Given the description of an element on the screen output the (x, y) to click on. 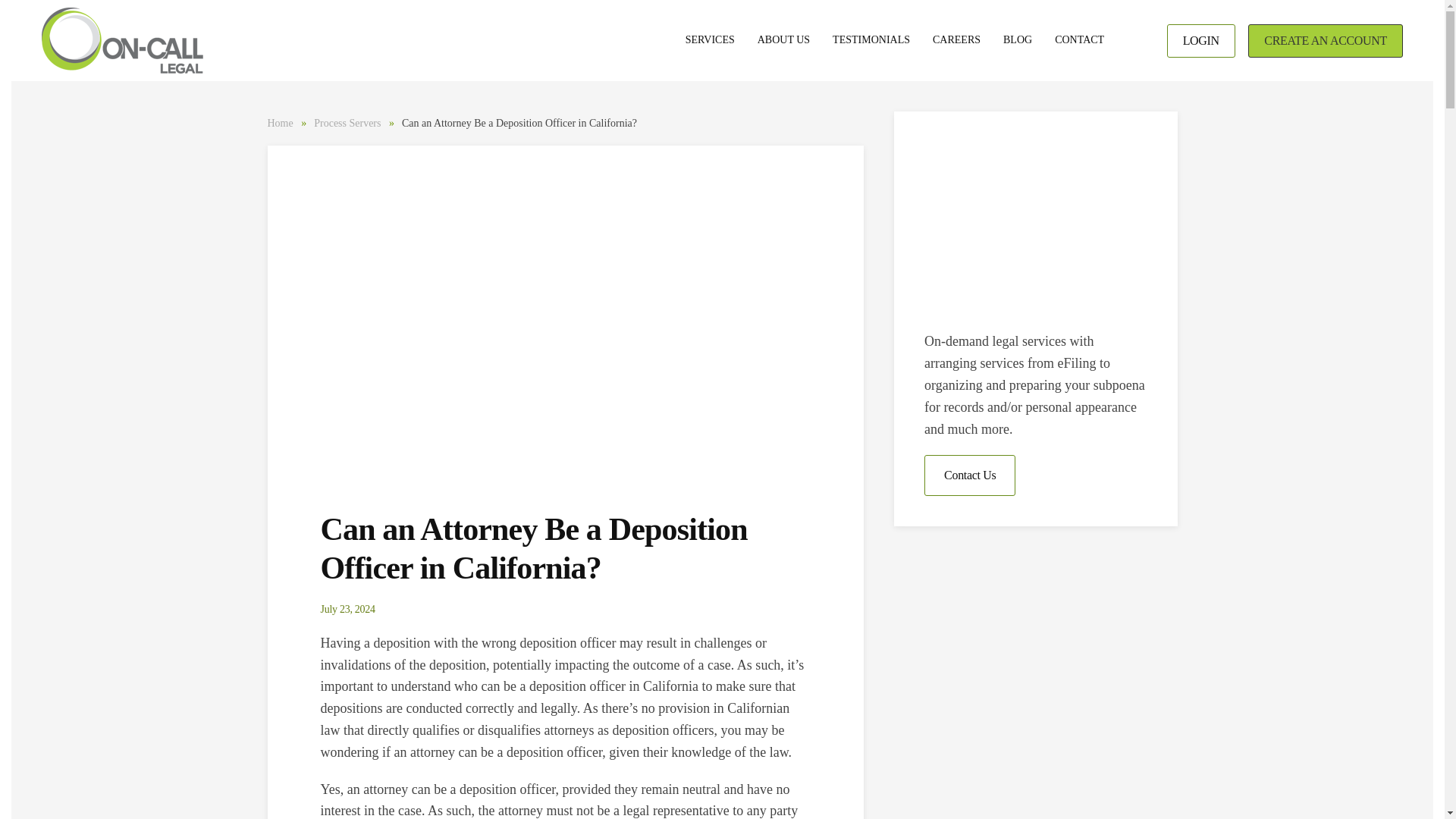
LOGIN (1200, 40)
ABOUT US (783, 40)
CREATE AN ACCOUNT (1325, 40)
SERVICES (709, 40)
CONTACT (1079, 40)
TESTIMONIALS (871, 40)
CAREERS (956, 40)
